Given the description of an element on the screen output the (x, y) to click on. 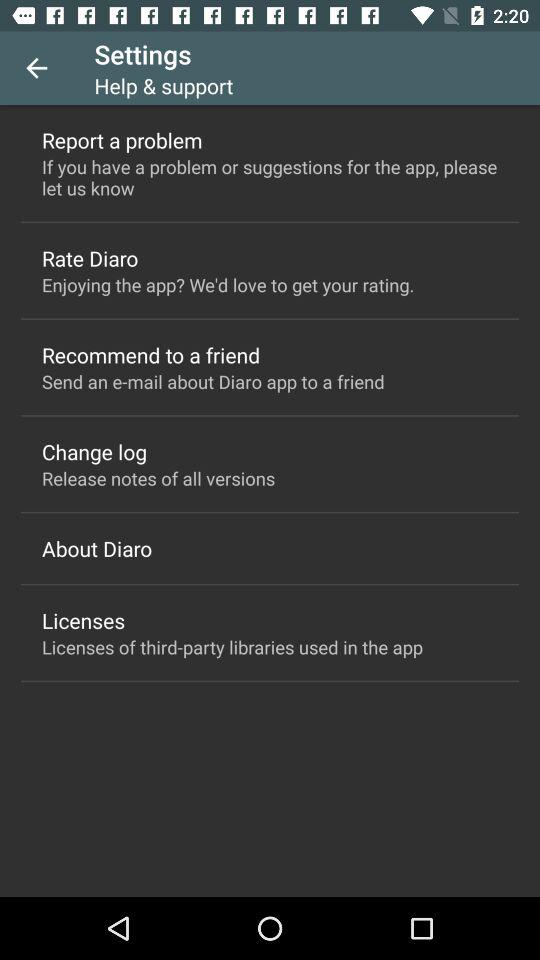
open send an e item (213, 381)
